Given the description of an element on the screen output the (x, y) to click on. 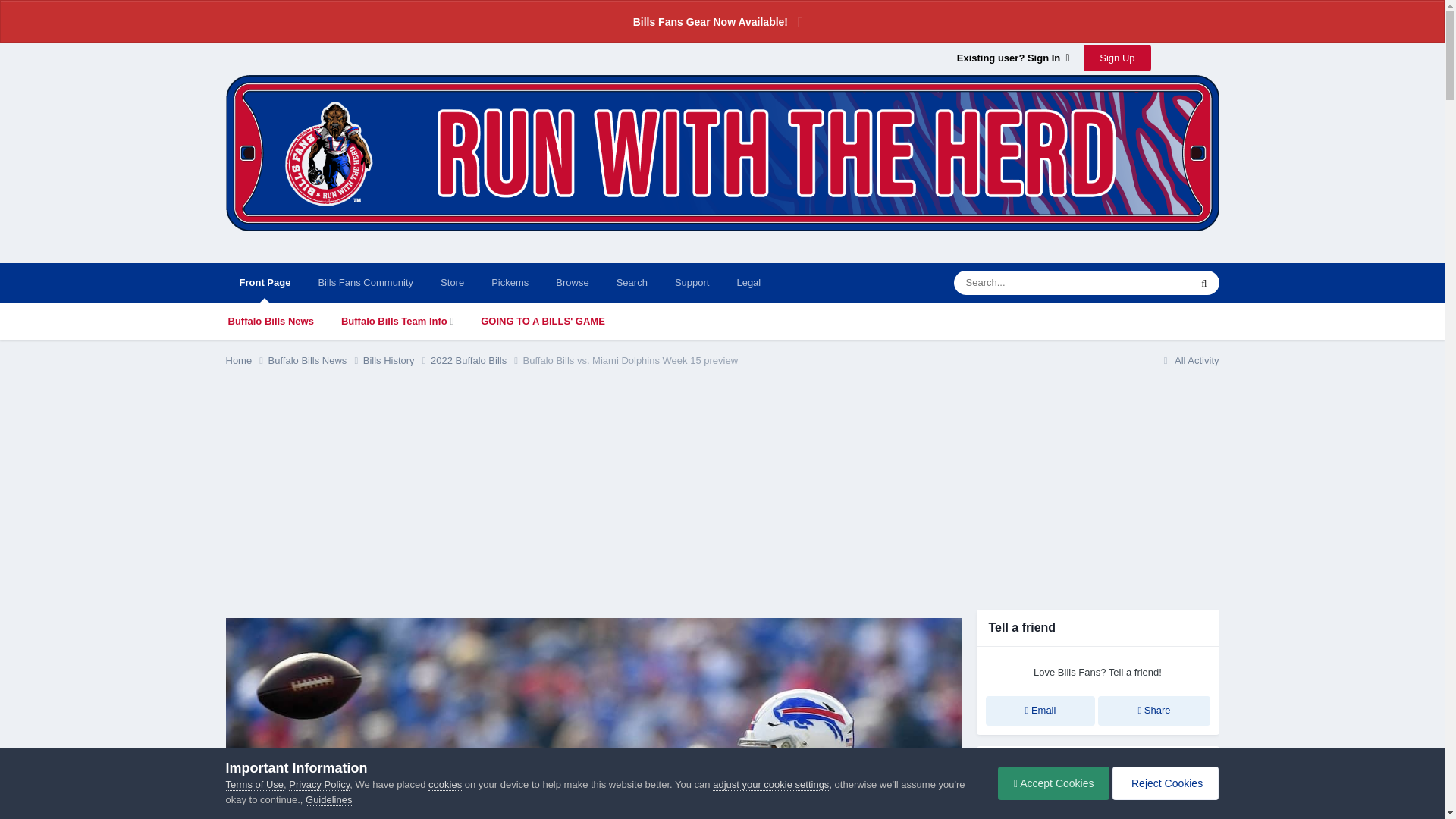
Buffalo Bills Team Info (397, 321)
Advertisement (501, 496)
Pickems (509, 282)
Search (631, 282)
Home (246, 360)
Bills Fans Gear Now Available! (722, 21)
Store (451, 282)
Sign Up (1116, 58)
Existing user? Sign In   (1013, 57)
Buffalo Bills News (270, 321)
